Given the description of an element on the screen output the (x, y) to click on. 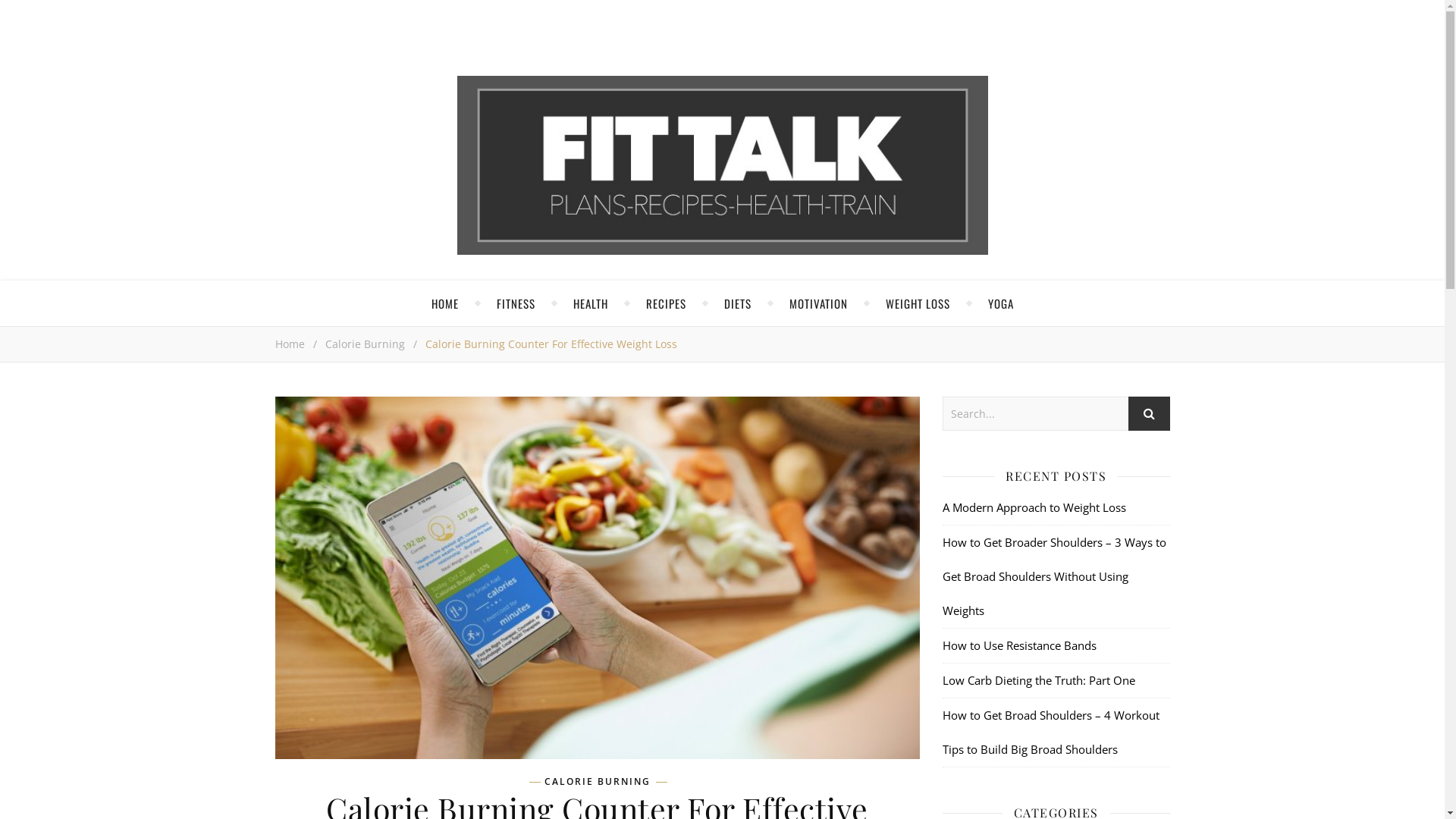
MOTIVATION Element type: text (817, 303)
FITNESS Element type: text (514, 303)
CALORIE BURNING Element type: text (597, 781)
How to Use Resistance Bands Element type: text (1018, 644)
HOME Element type: text (444, 303)
RECIPES Element type: text (666, 303)
Home Element type: text (289, 343)
WEIGHT LOSS Element type: text (917, 303)
Low Carb Dieting the Truth: Part One Element type: text (1037, 679)
HEALTH Element type: text (590, 303)
A Modern Approach to Weight Loss Element type: text (1033, 506)
YOGA Element type: text (1000, 303)
DIETS Element type: text (736, 303)
Calorie Burning Element type: text (364, 343)
FitTalk.com.au Element type: hover (721, 164)
